Given the description of an element on the screen output the (x, y) to click on. 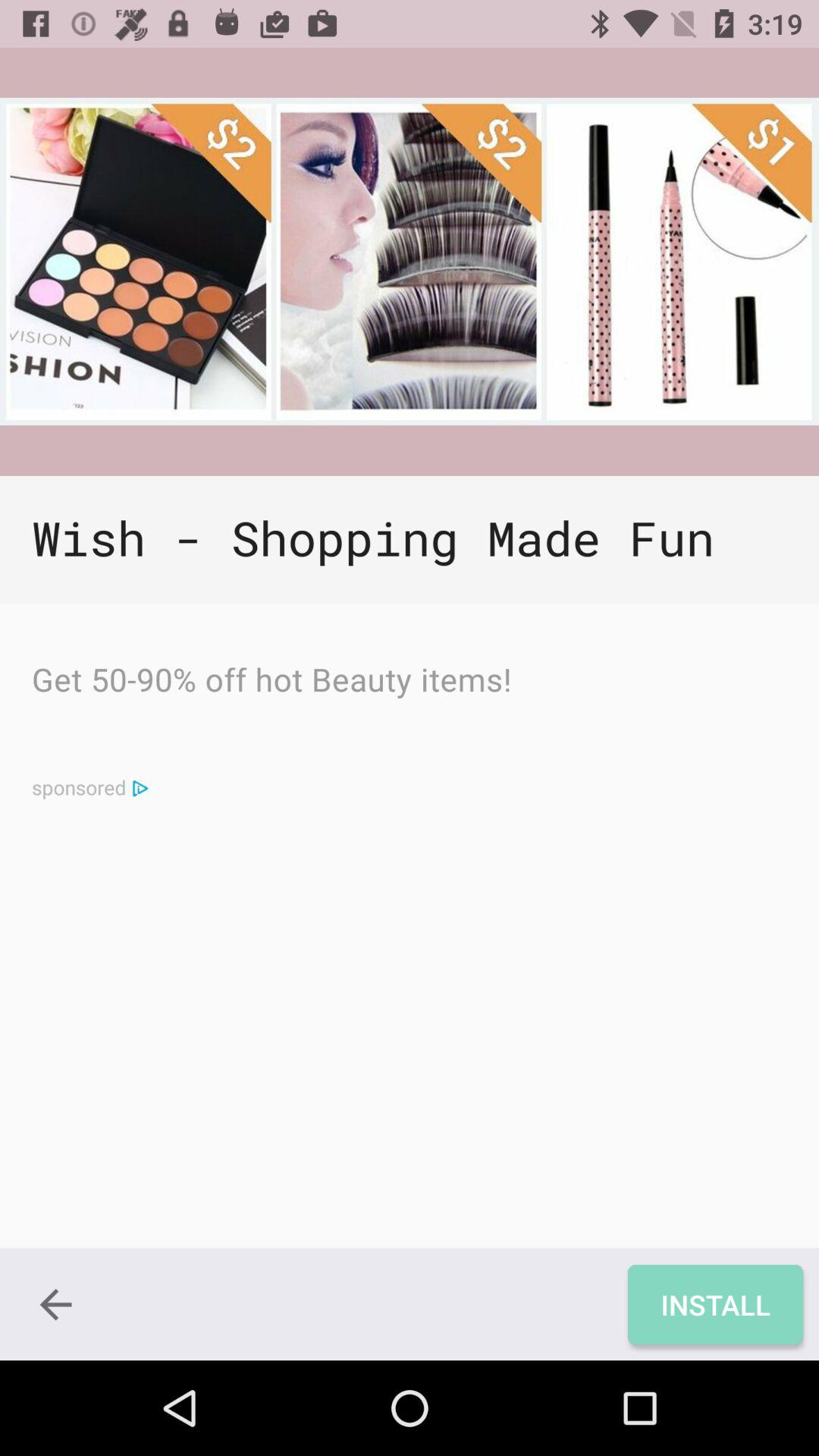
choose icon at the bottom left corner (55, 1304)
